Given the description of an element on the screen output the (x, y) to click on. 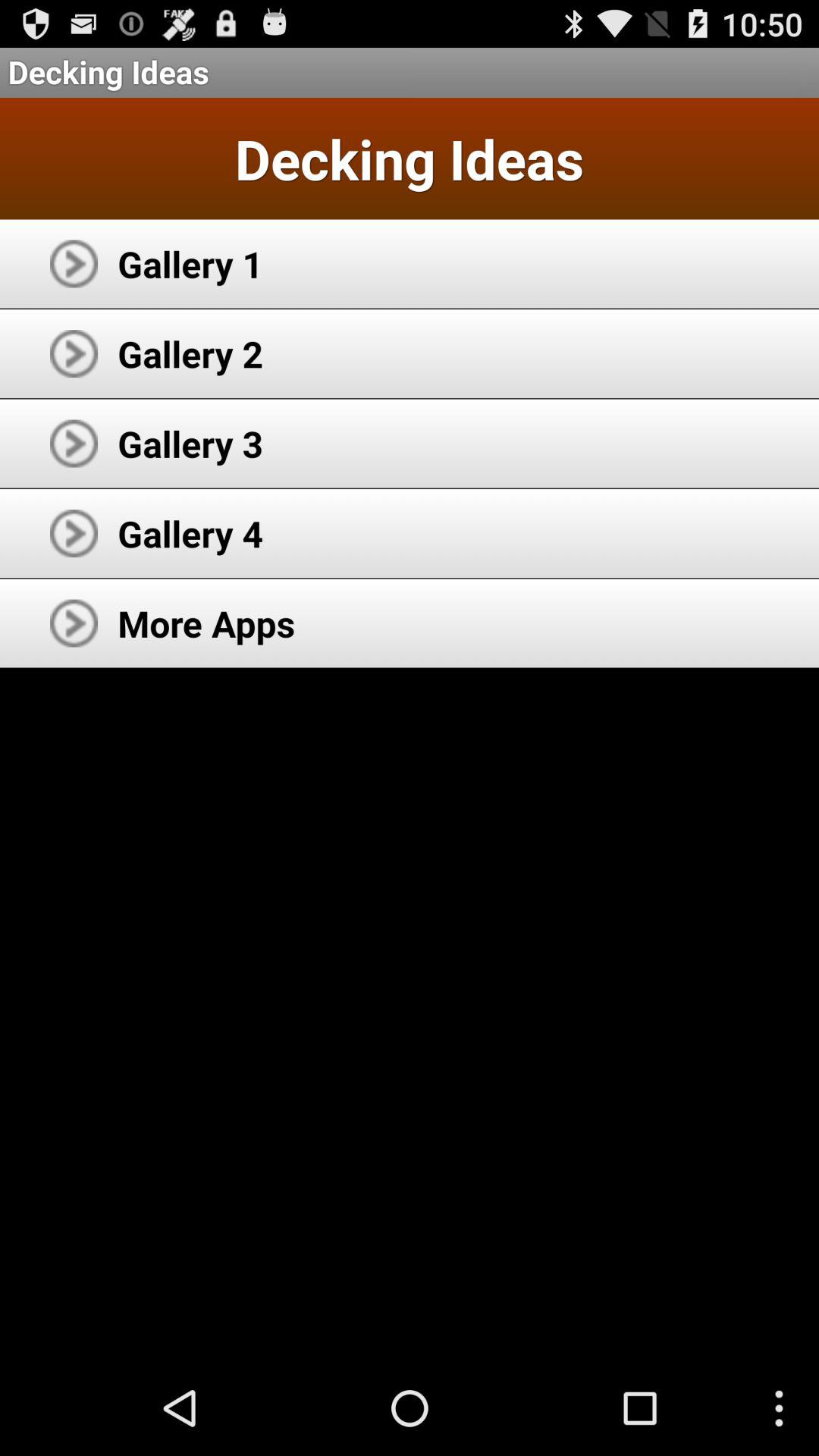
turn off the item below gallery 2 app (190, 443)
